Given the description of an element on the screen output the (x, y) to click on. 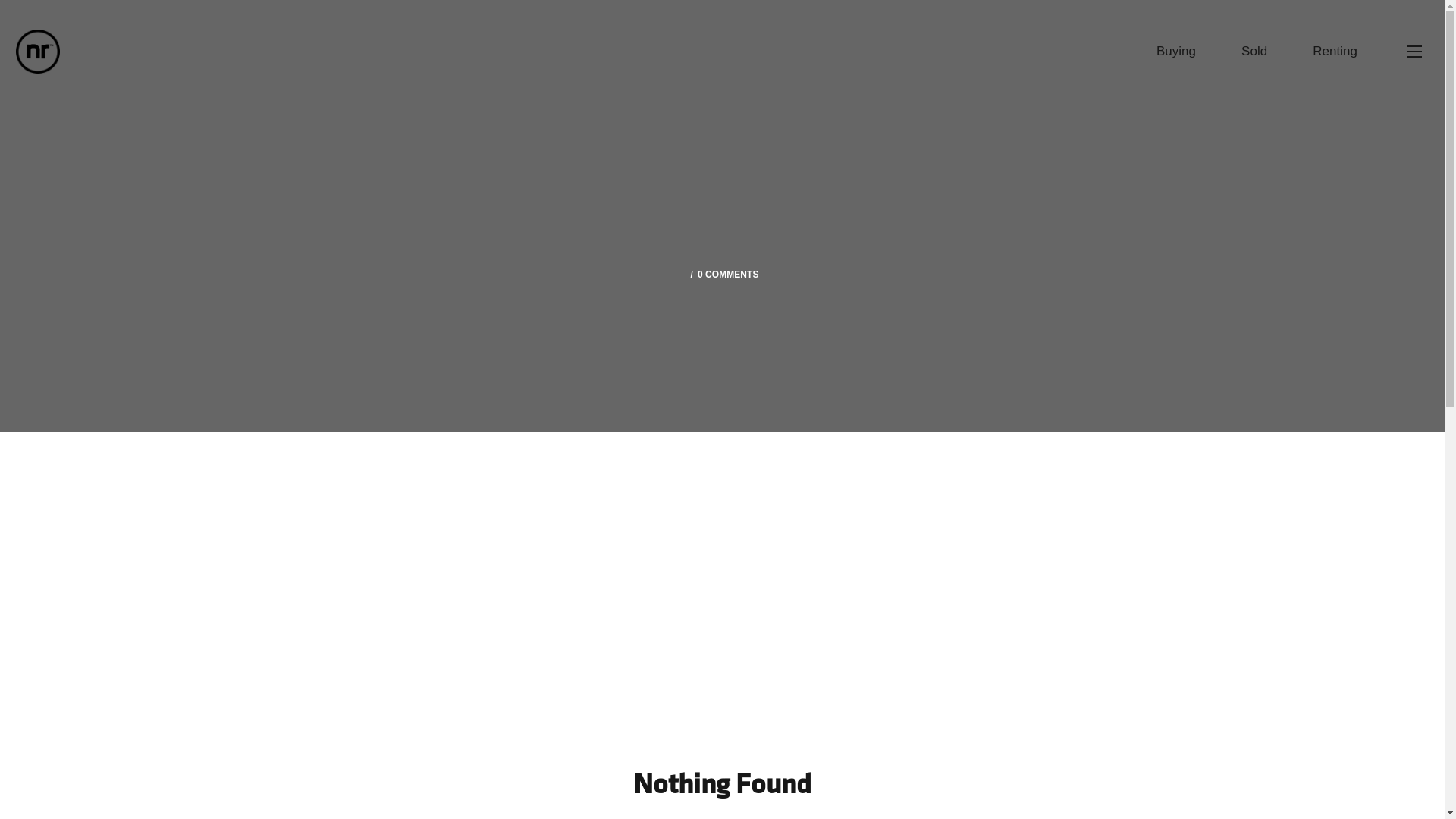
Sold Element type: text (1253, 51)
Buying Element type: text (1175, 51)
Renting Element type: text (1334, 51)
